Given the description of an element on the screen output the (x, y) to click on. 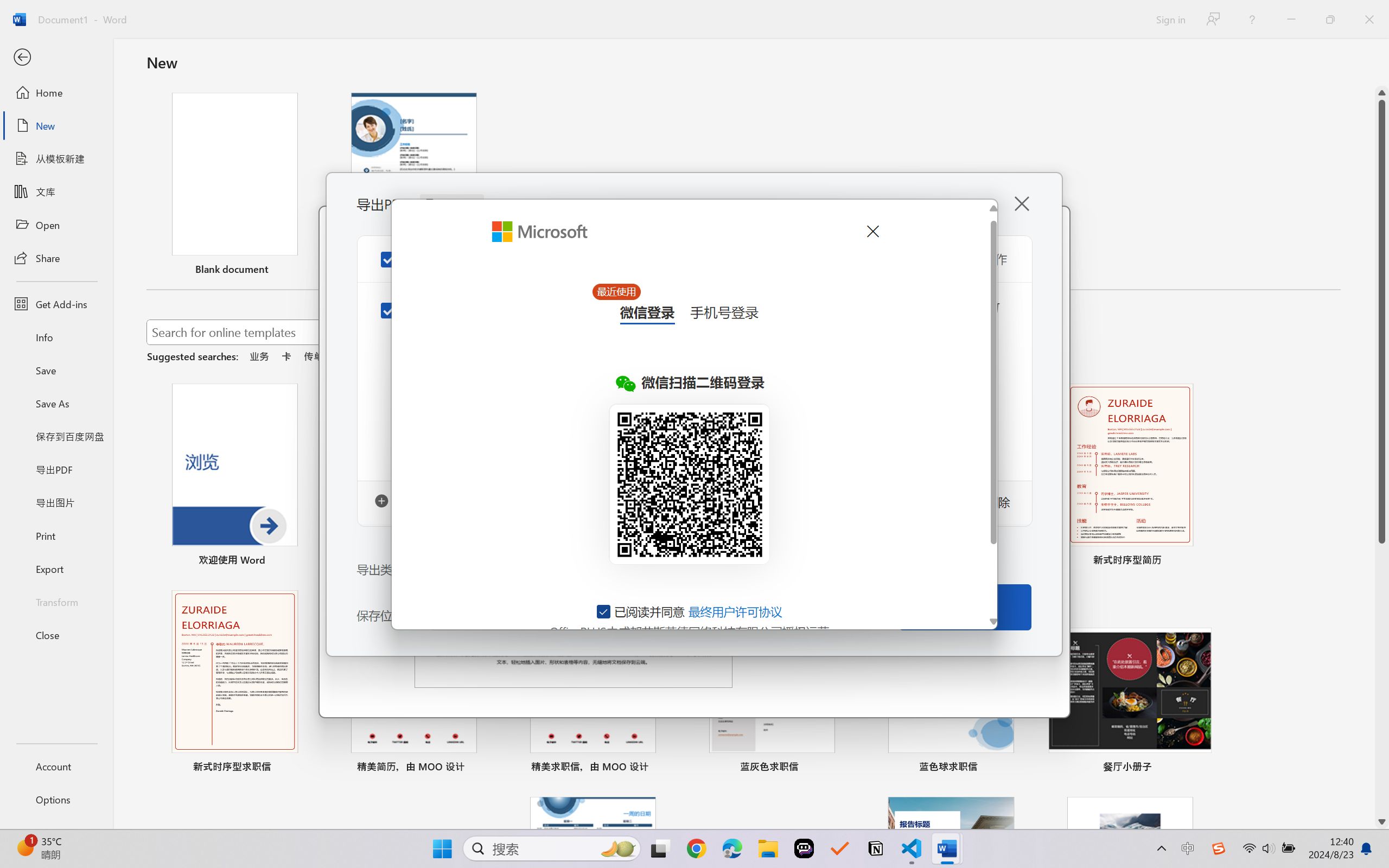
Transform (56, 601)
Line up (1382, 92)
Account (56, 765)
Cancel (872, 230)
AutomationID: checkbox-14 (604, 611)
